Given the description of an element on the screen output the (x, y) to click on. 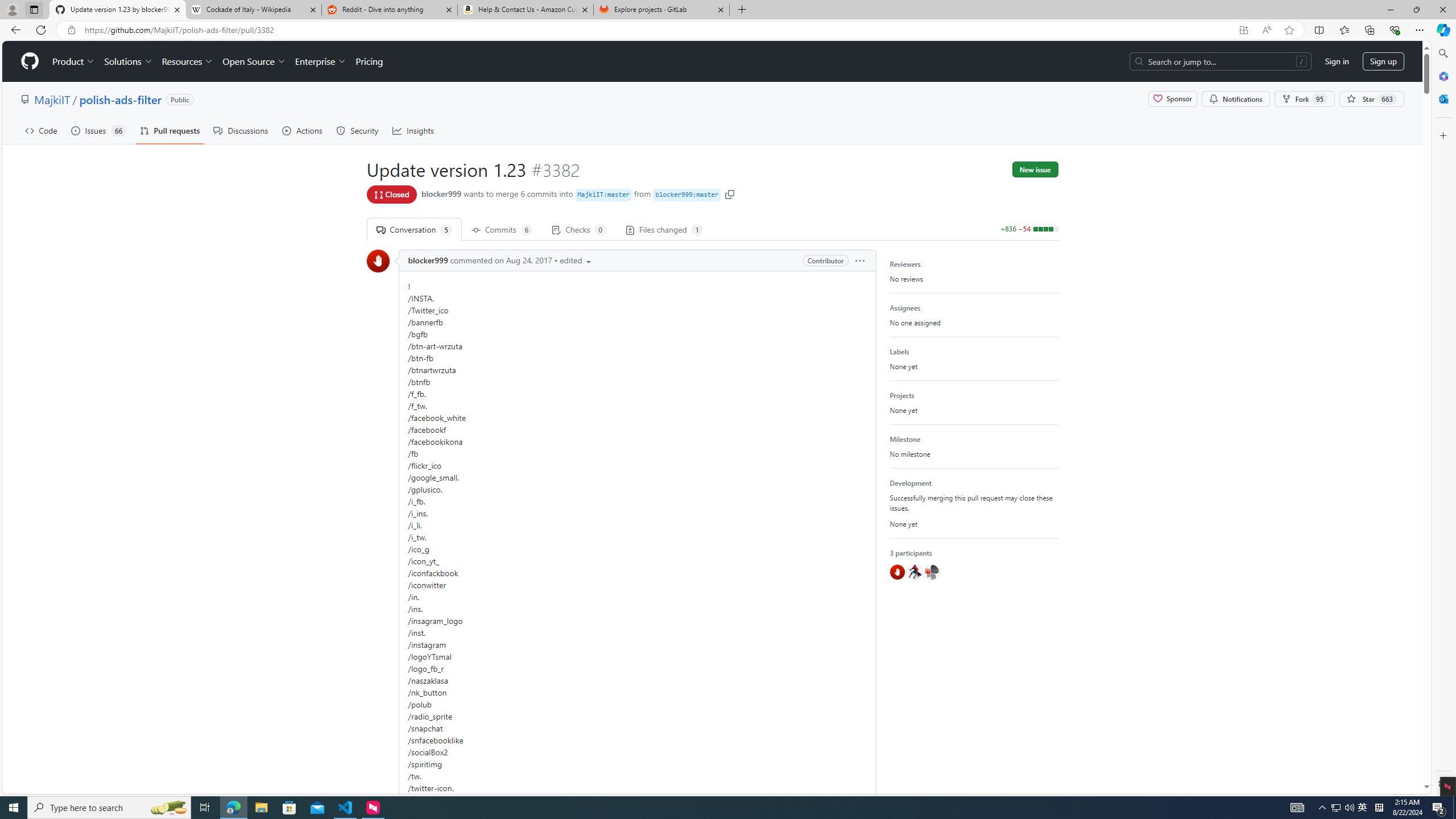
Code (41, 130)
edited  (576, 259)
Product (74, 60)
Enterprise (319, 60)
Discussions (240, 130)
Issues 66 (98, 130)
Fork 95 (1304, 98)
 Conversation 5 (413, 228)
Issues66 (98, 130)
 Star 663 (1371, 98)
Copy (730, 193)
